Given the description of an element on the screen output the (x, y) to click on. 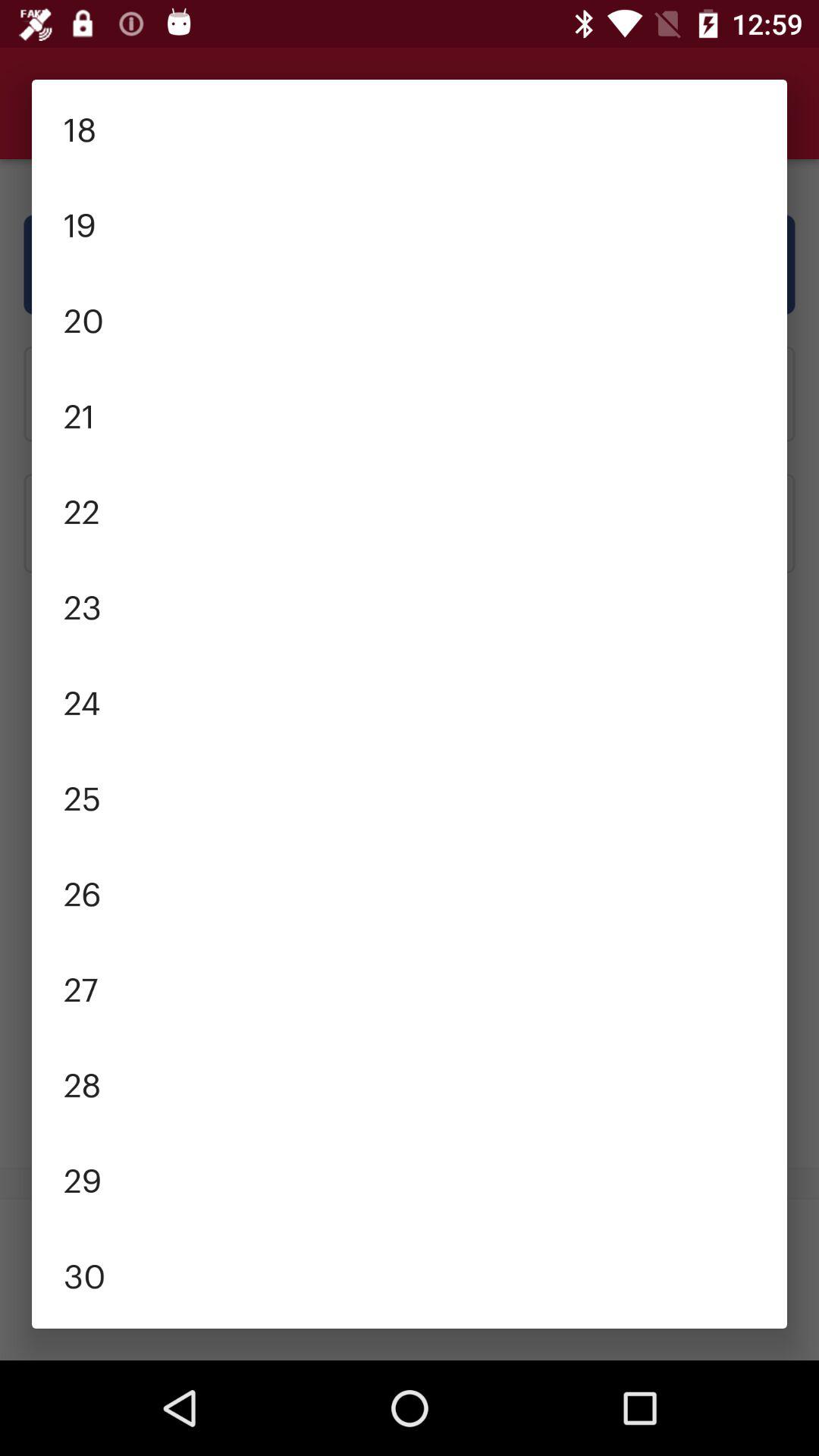
turn on the item above the 26 item (409, 796)
